Given the description of an element on the screen output the (x, y) to click on. 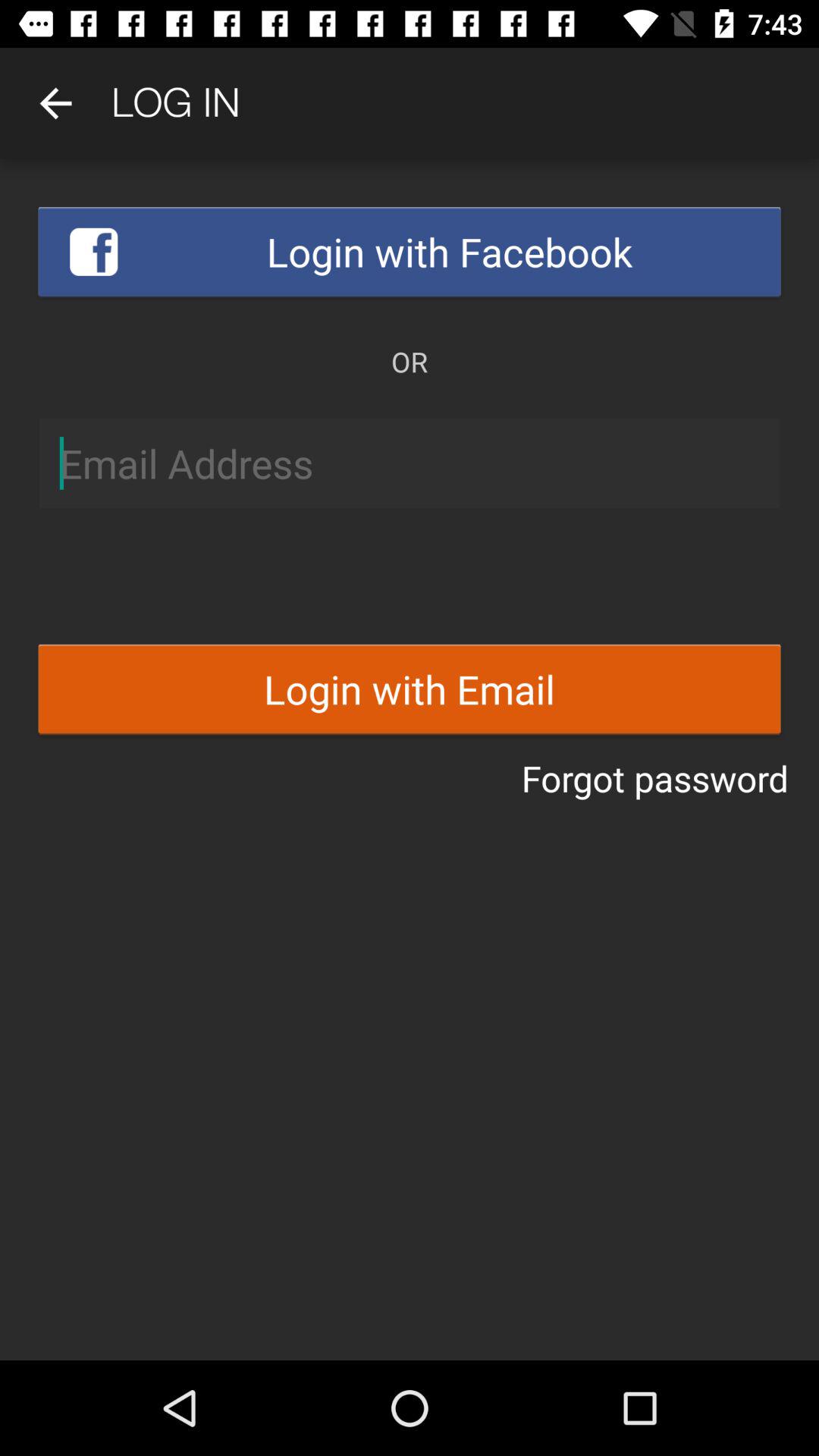
press item above login with facebook icon (55, 103)
